Given the description of an element on the screen output the (x, y) to click on. 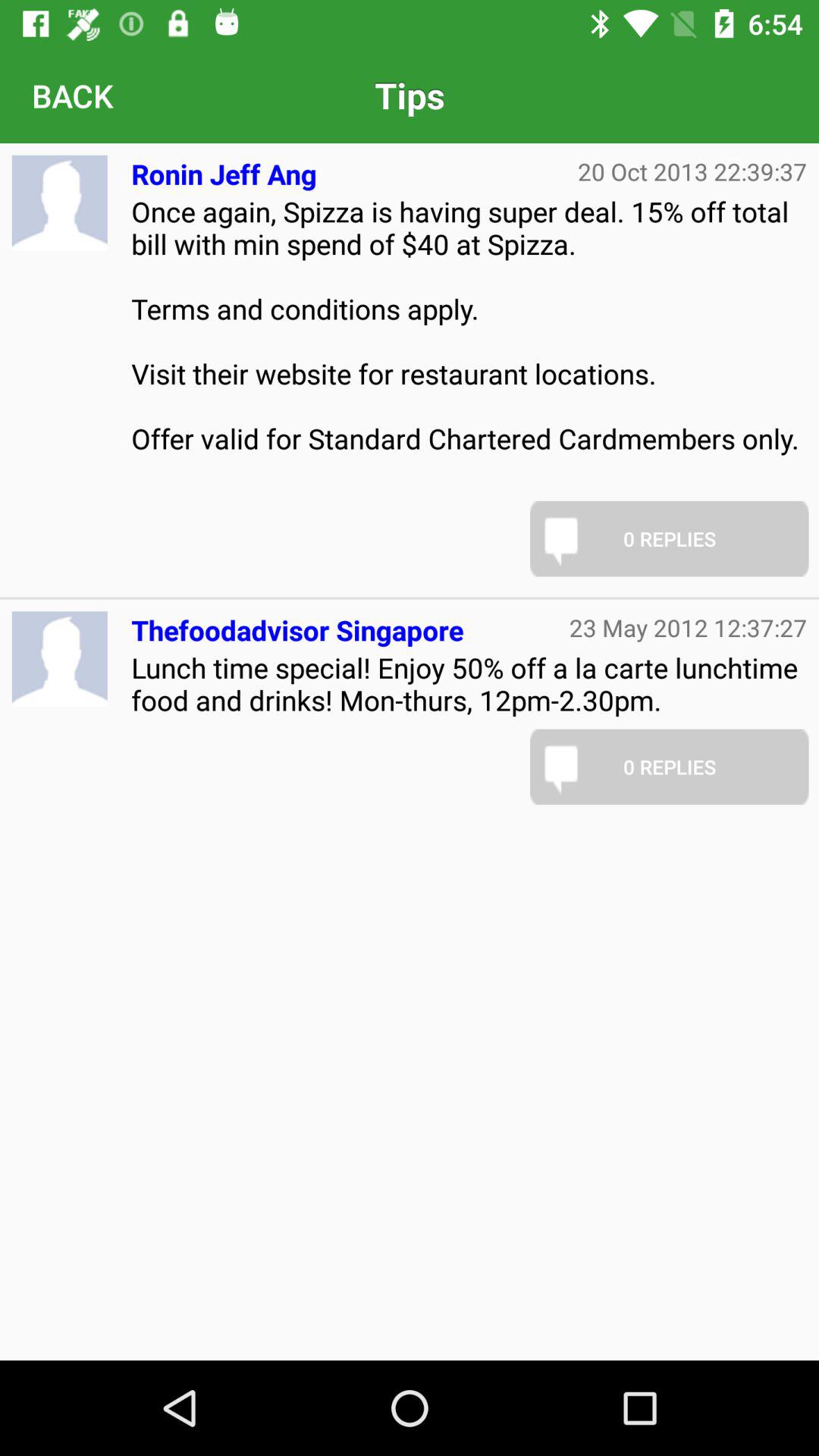
launch back icon (72, 95)
